Given the description of an element on the screen output the (x, y) to click on. 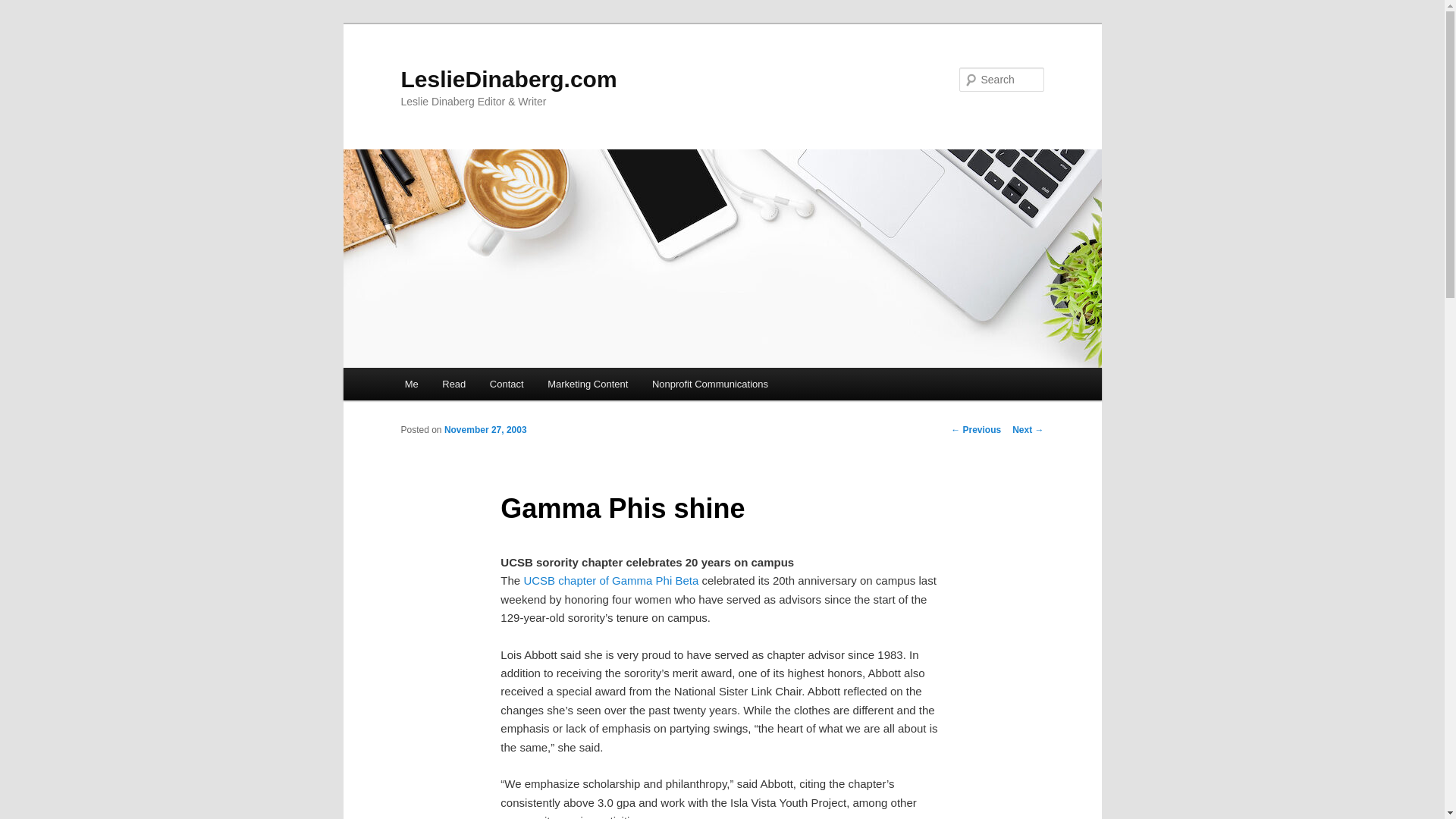
UCSB chapter of Gamma Phi Beta (608, 580)
Marketing Content (587, 383)
Nonprofit Communications (710, 383)
LeslieDinaberg.com (507, 78)
UCSB Gamma Phi Beta (608, 580)
November 27, 2003 (485, 429)
Me (411, 383)
12:00 am (485, 429)
Search (24, 8)
Contact (506, 383)
Read (454, 383)
